Given the description of an element on the screen output the (x, y) to click on. 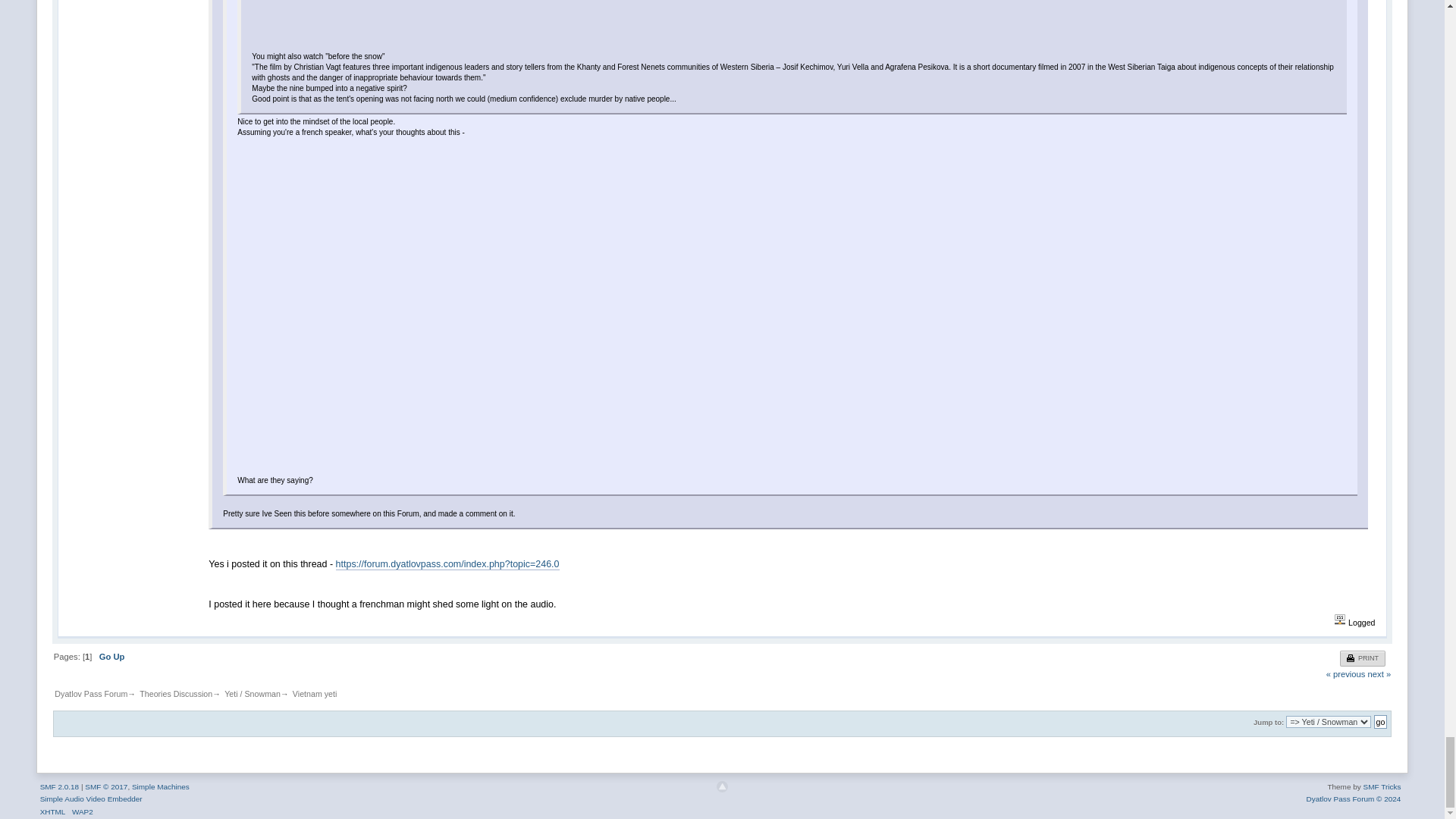
go (1380, 721)
